Given the description of an element on the screen output the (x, y) to click on. 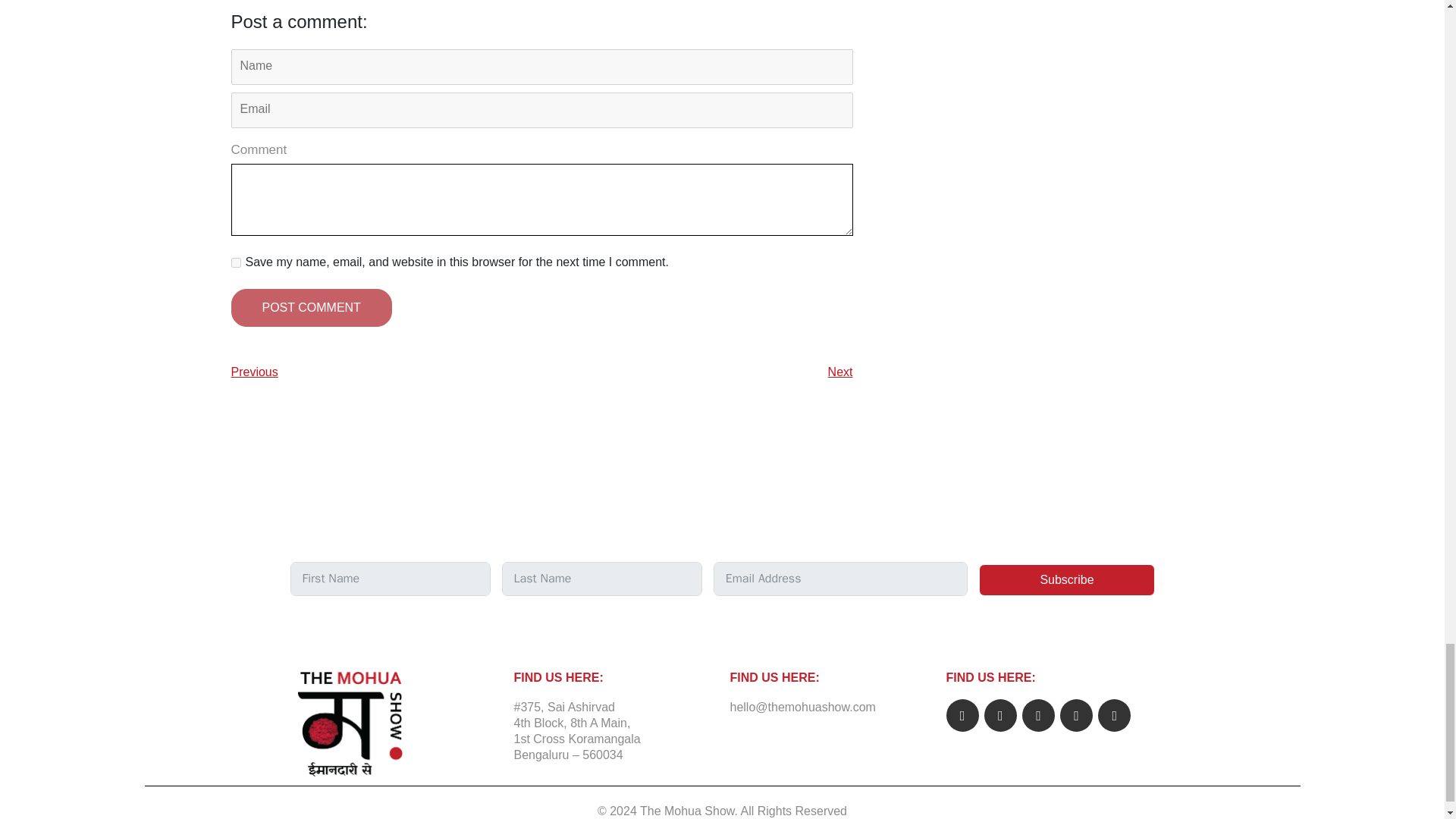
Previous (254, 371)
The Mohua Show (687, 810)
POST COMMENT (310, 307)
Subscribe (1066, 580)
yes (235, 262)
Next (840, 371)
